Given the description of an element on the screen output the (x, y) to click on. 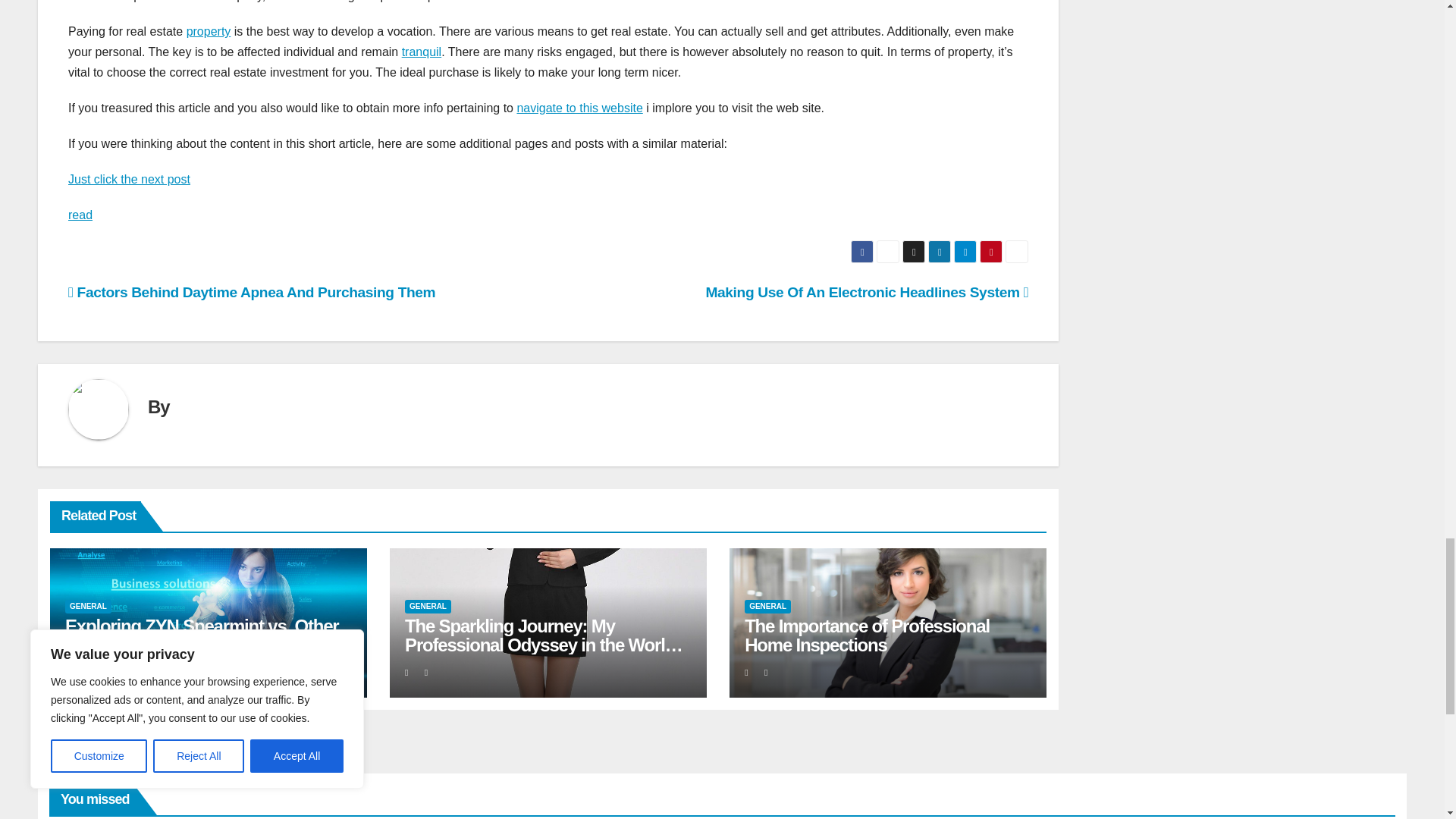
Just click the next post (129, 178)
read (80, 214)
property (208, 31)
navigate to this website (579, 107)
tranquil (421, 51)
